Given the description of an element on the screen output the (x, y) to click on. 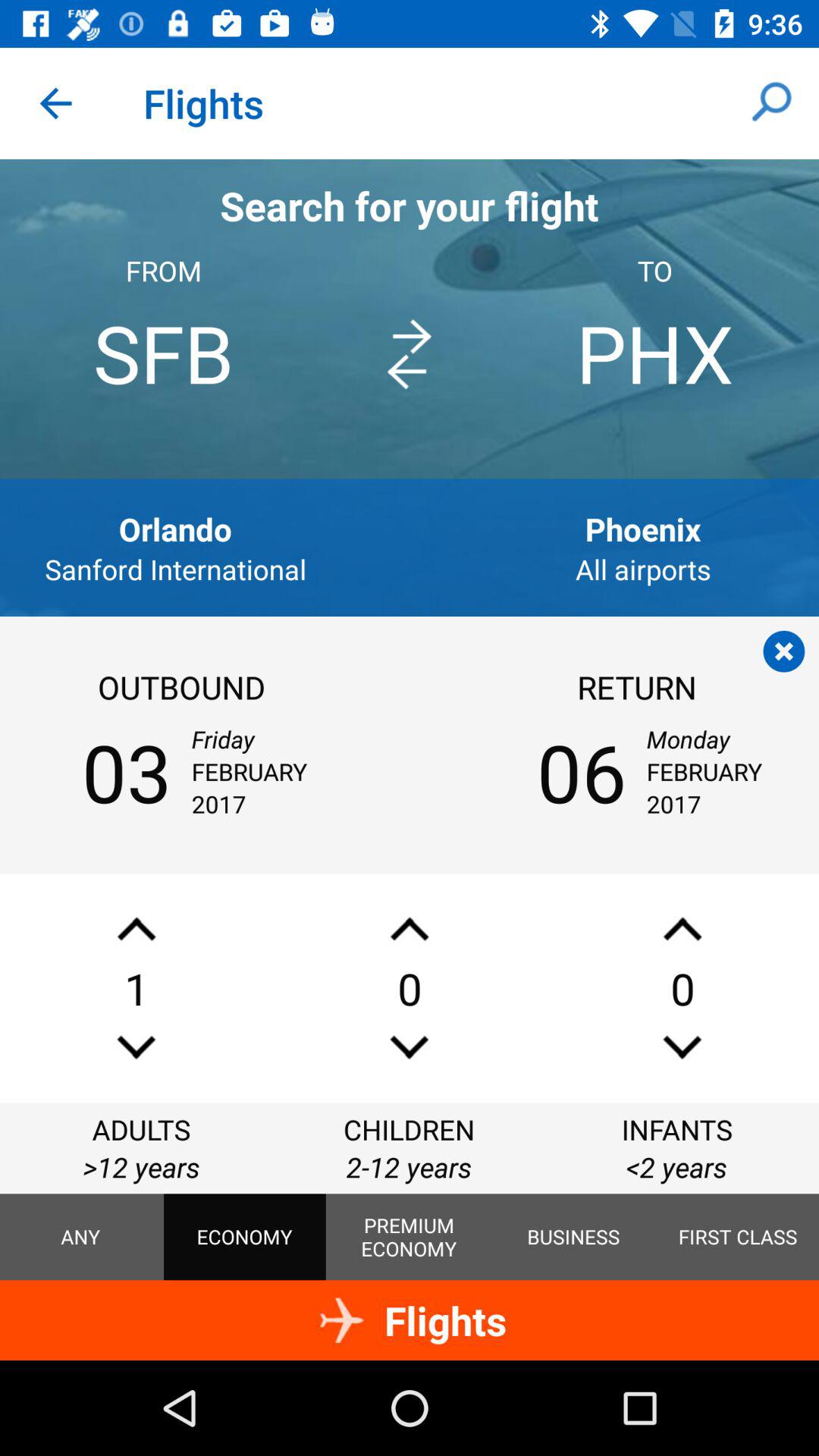
add one infant (682, 928)
